Given the description of an element on the screen output the (x, y) to click on. 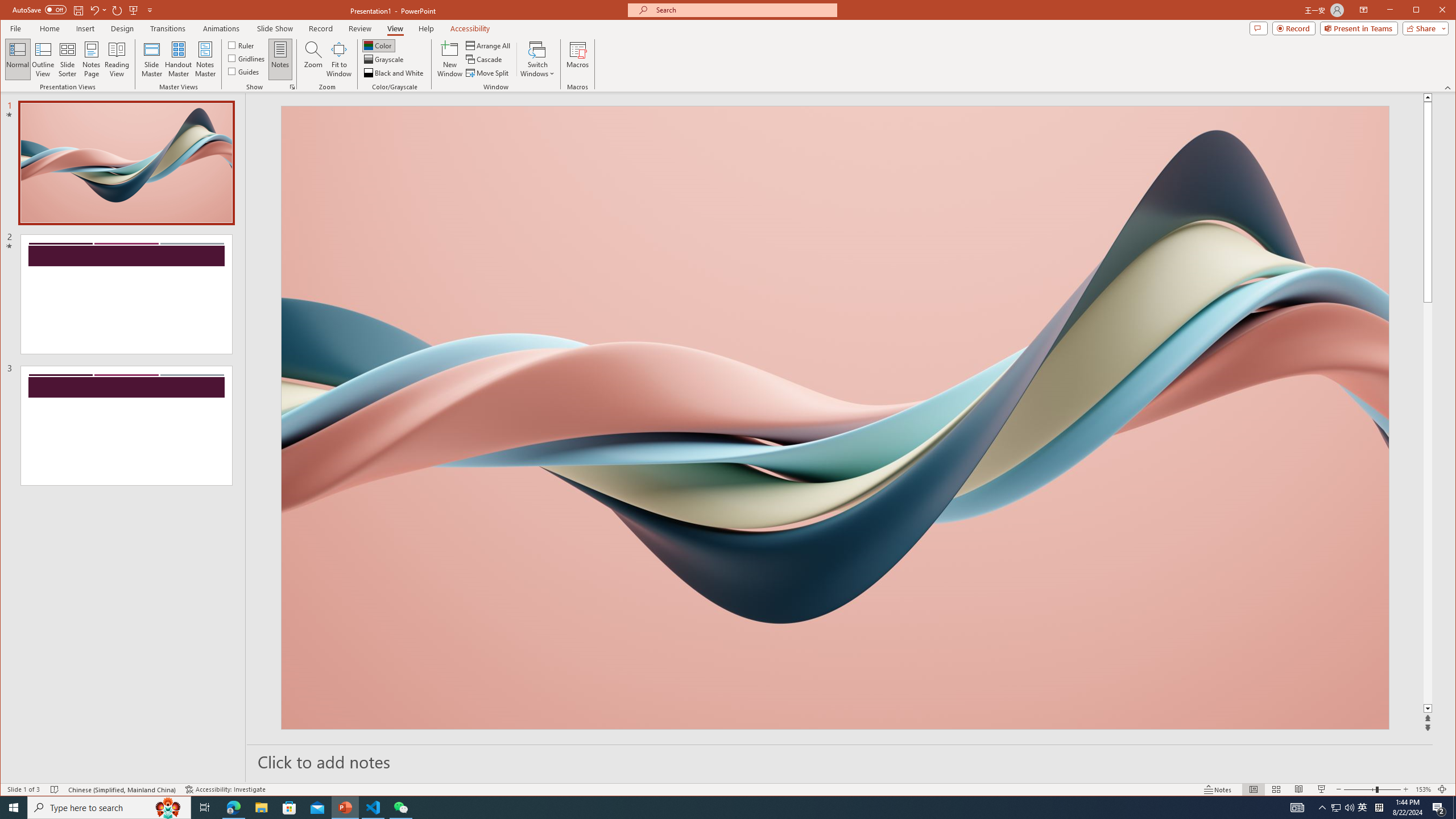
Handout Master (178, 59)
Guides (243, 70)
Switch Windows (537, 59)
Macros (576, 59)
Outline View (42, 59)
